Given the description of an element on the screen output the (x, y) to click on. 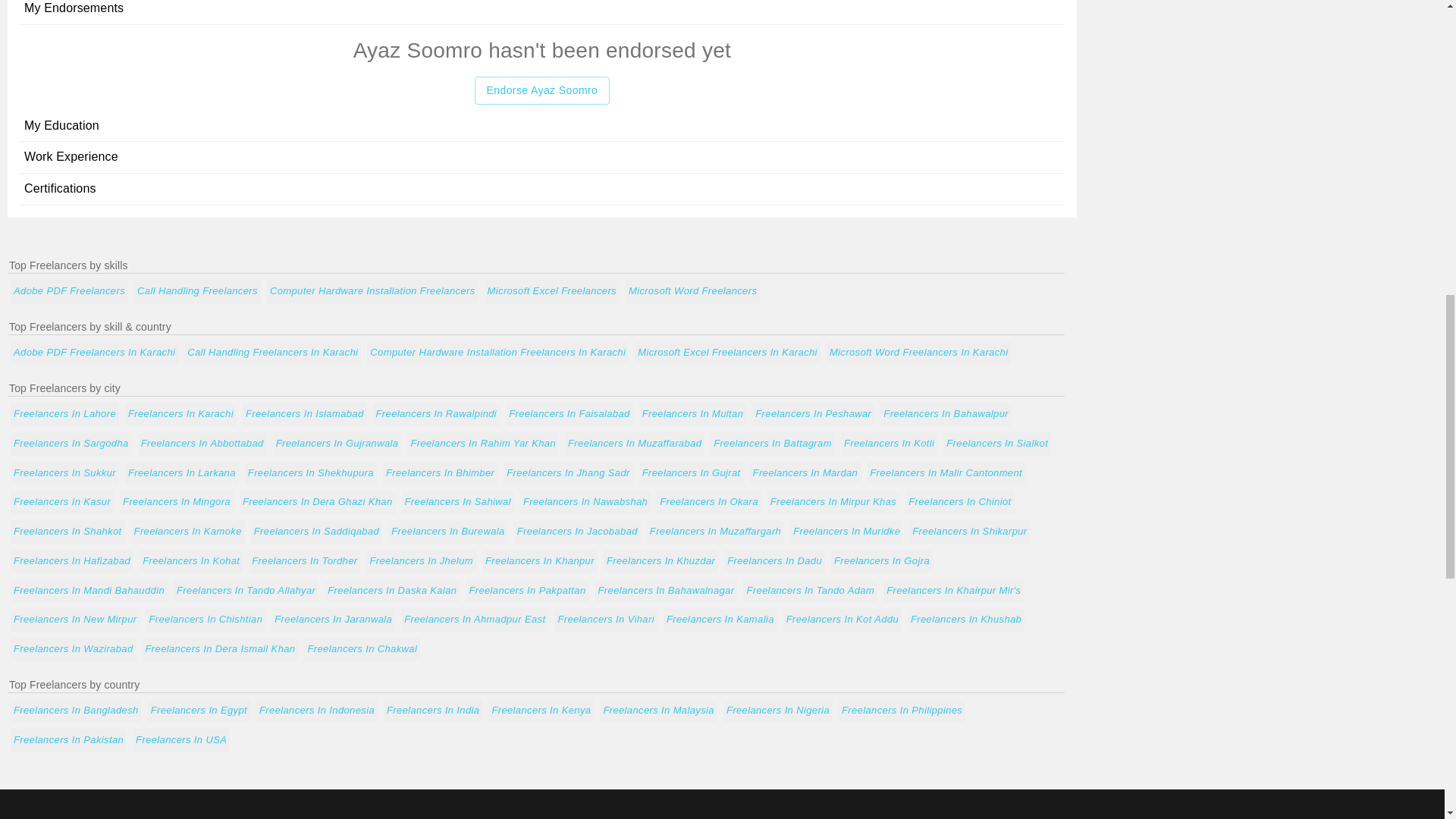
Adobe PDF Freelancers (69, 291)
Call Handling Freelancers (196, 291)
Endorse Ayaz Soomro (542, 90)
Computer Hardware Installation Freelancers (372, 291)
